Given the description of an element on the screen output the (x, y) to click on. 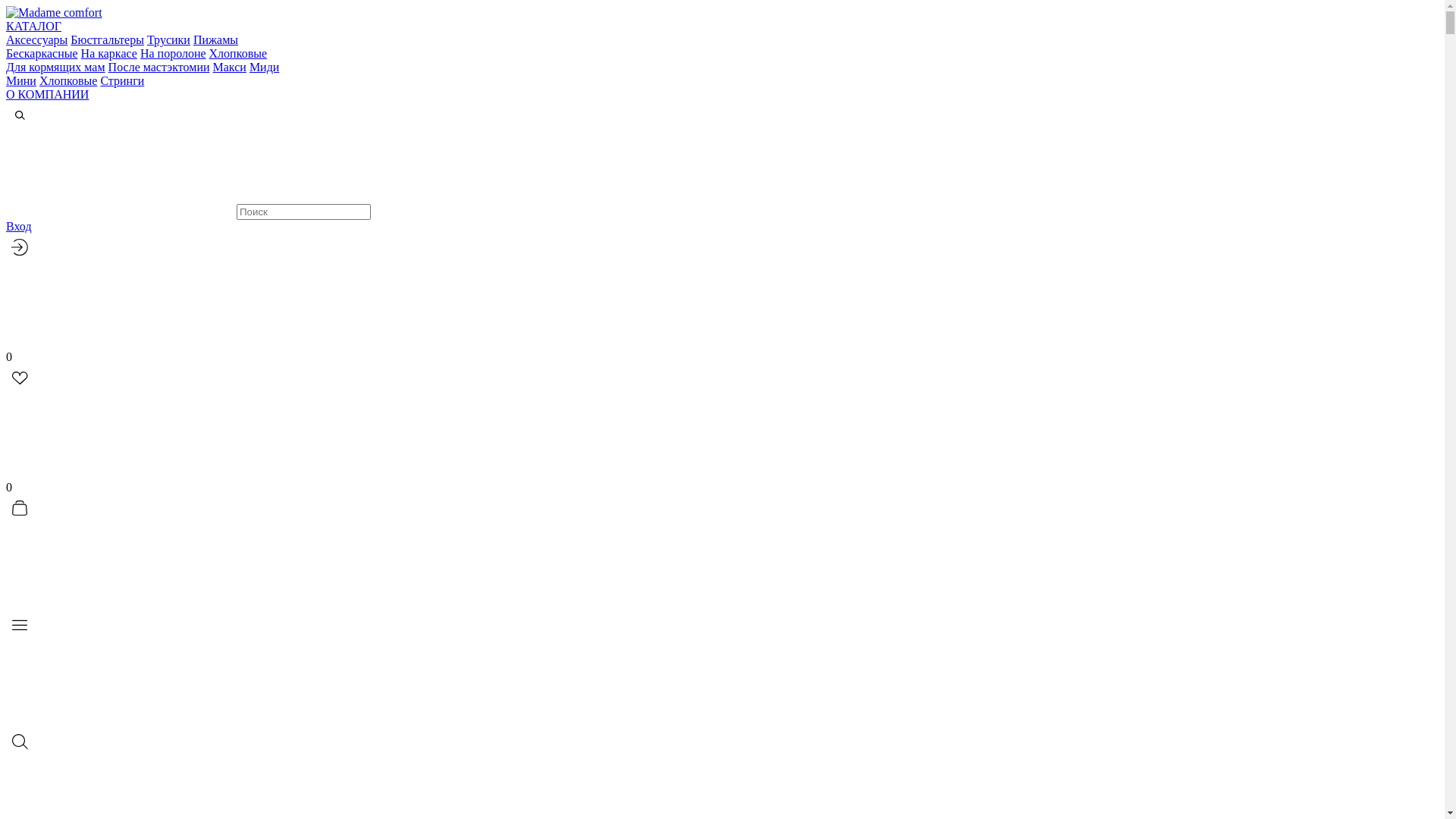
0 Element type: text (722, 415)
0 Element type: text (722, 545)
